Given the description of an element on the screen output the (x, y) to click on. 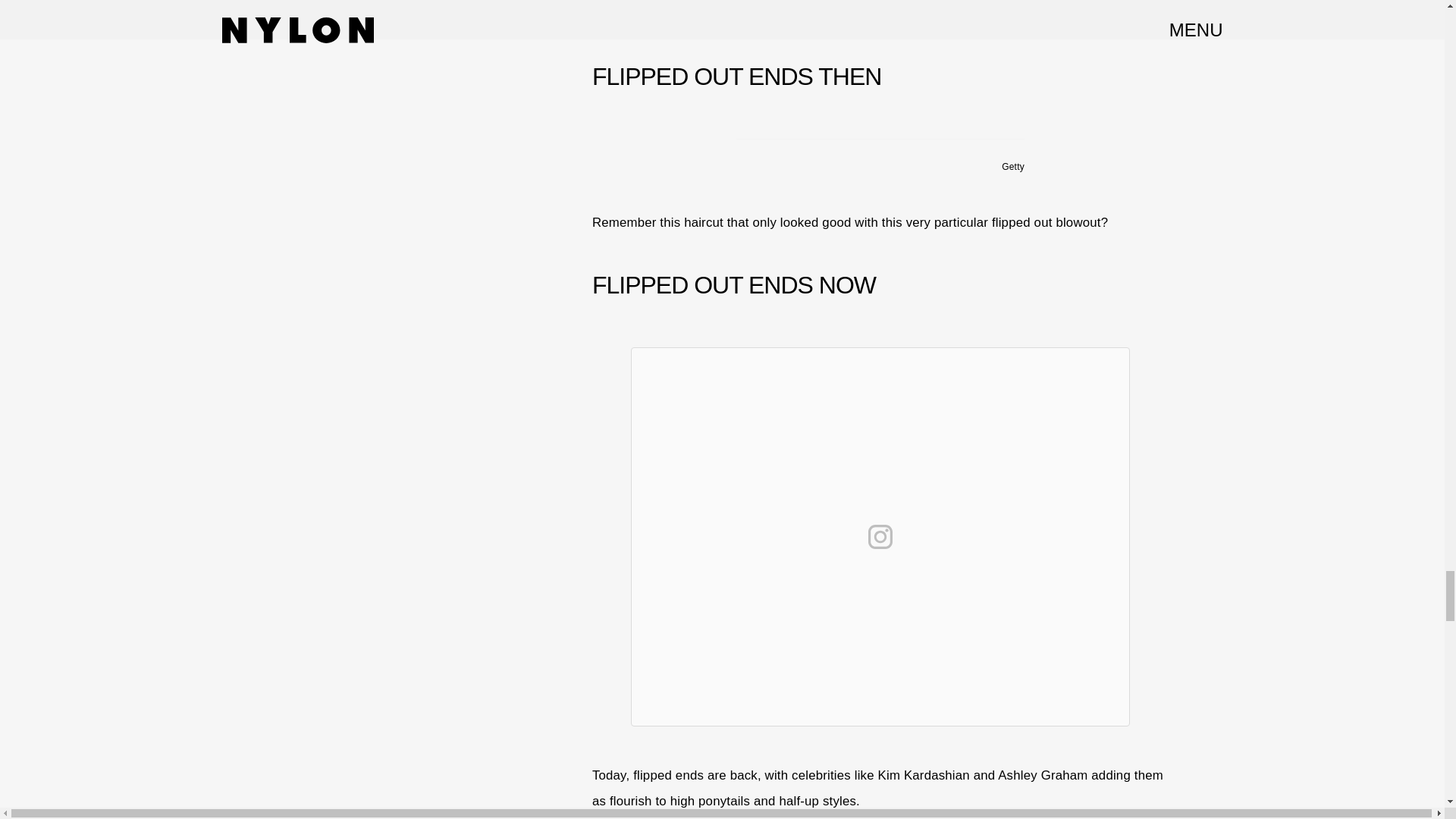
View on Instagram (879, 536)
